Given the description of an element on the screen output the (x, y) to click on. 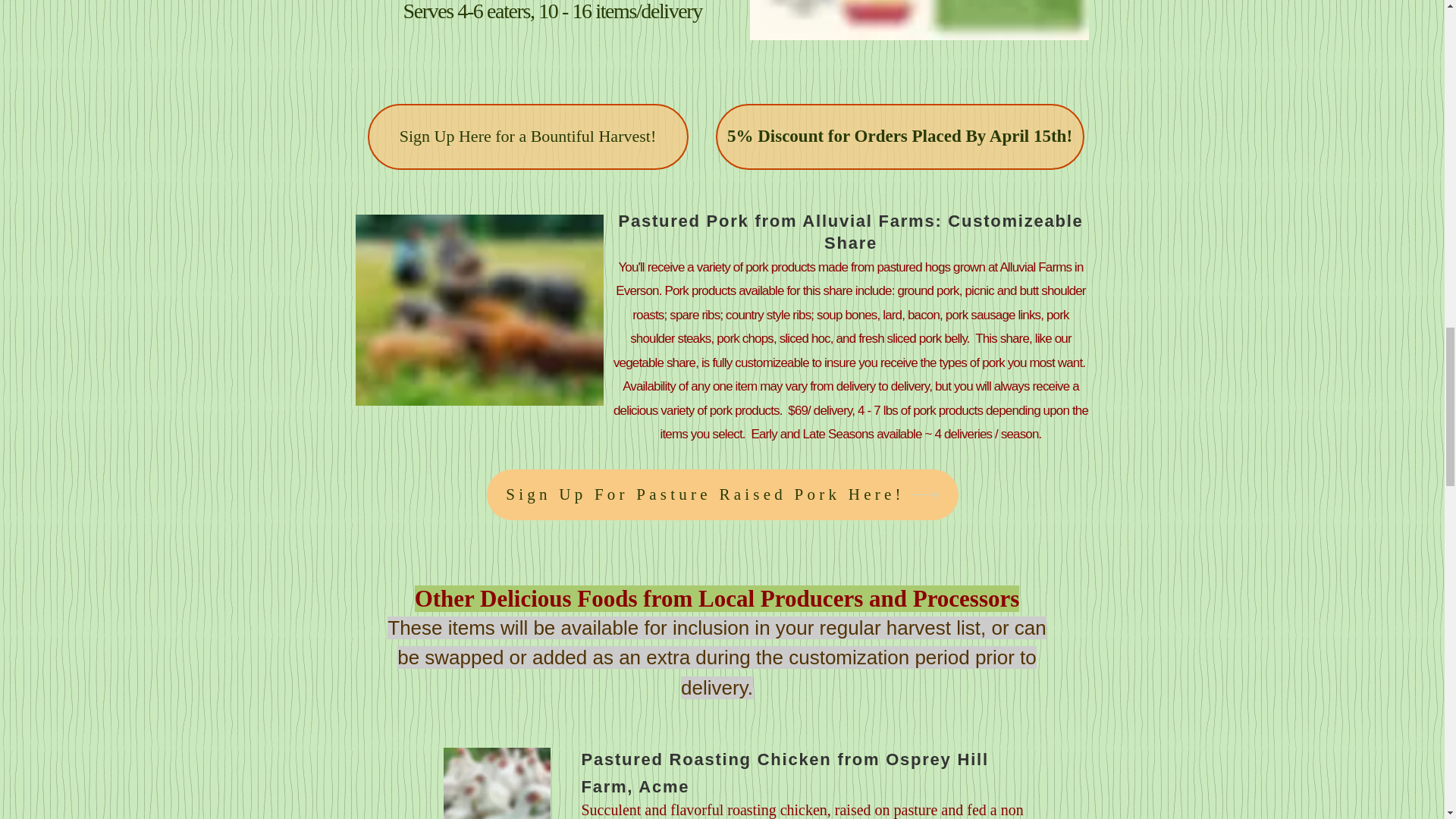
Sign Up Here for a Bountiful Harvest! (526, 136)
Sign Up For Pasture Raised Pork Here! (722, 494)
